Given the description of an element on the screen output the (x, y) to click on. 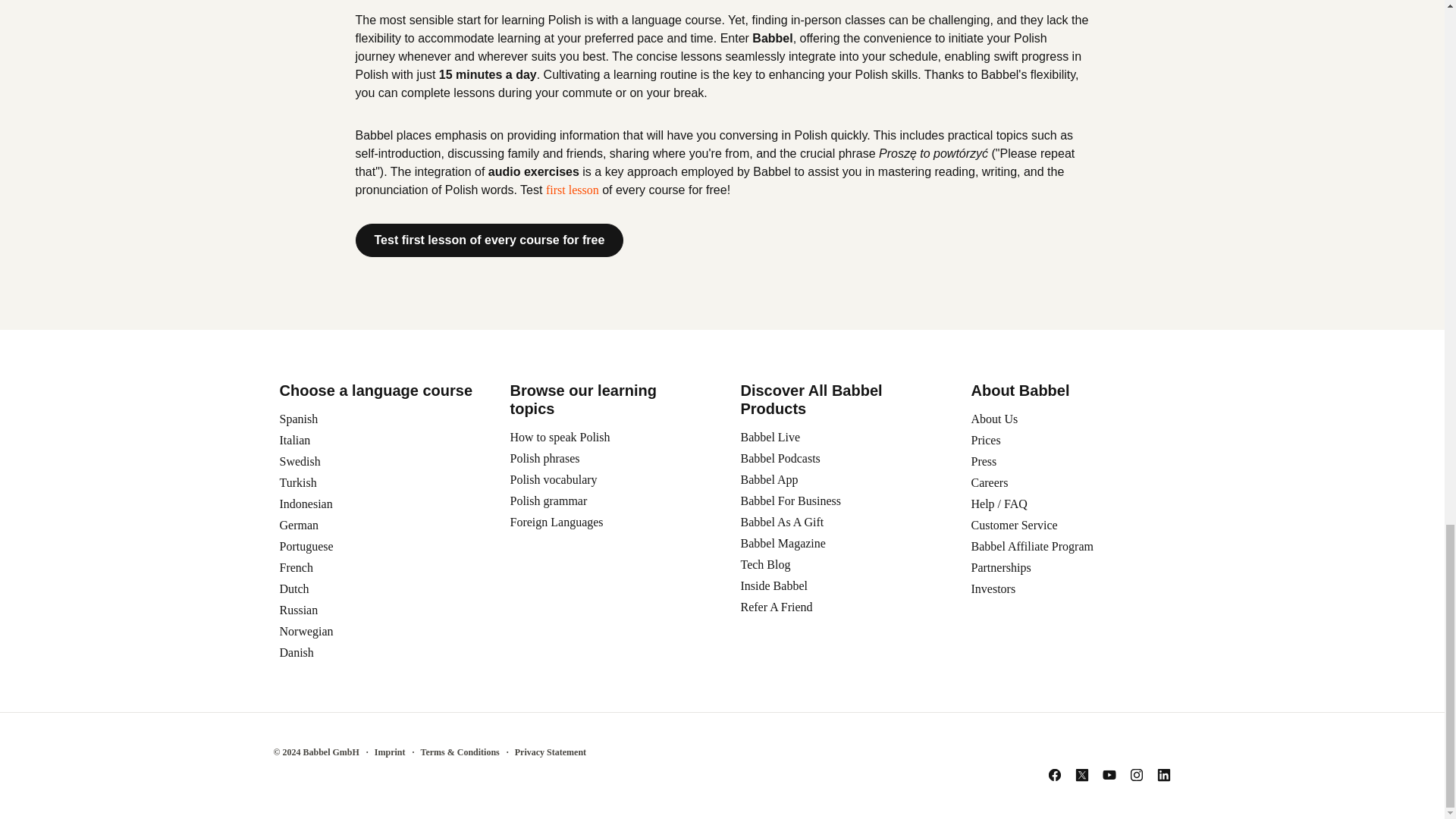
Swedish (299, 460)
facebook (1054, 774)
linkedin (1163, 774)
Indonesian (305, 503)
twitter (1080, 774)
How to speak Polish (559, 436)
German (298, 524)
Polish phrases (544, 458)
Norwegian (306, 630)
Test first lesson of every course for free (489, 239)
